Given the description of an element on the screen output the (x, y) to click on. 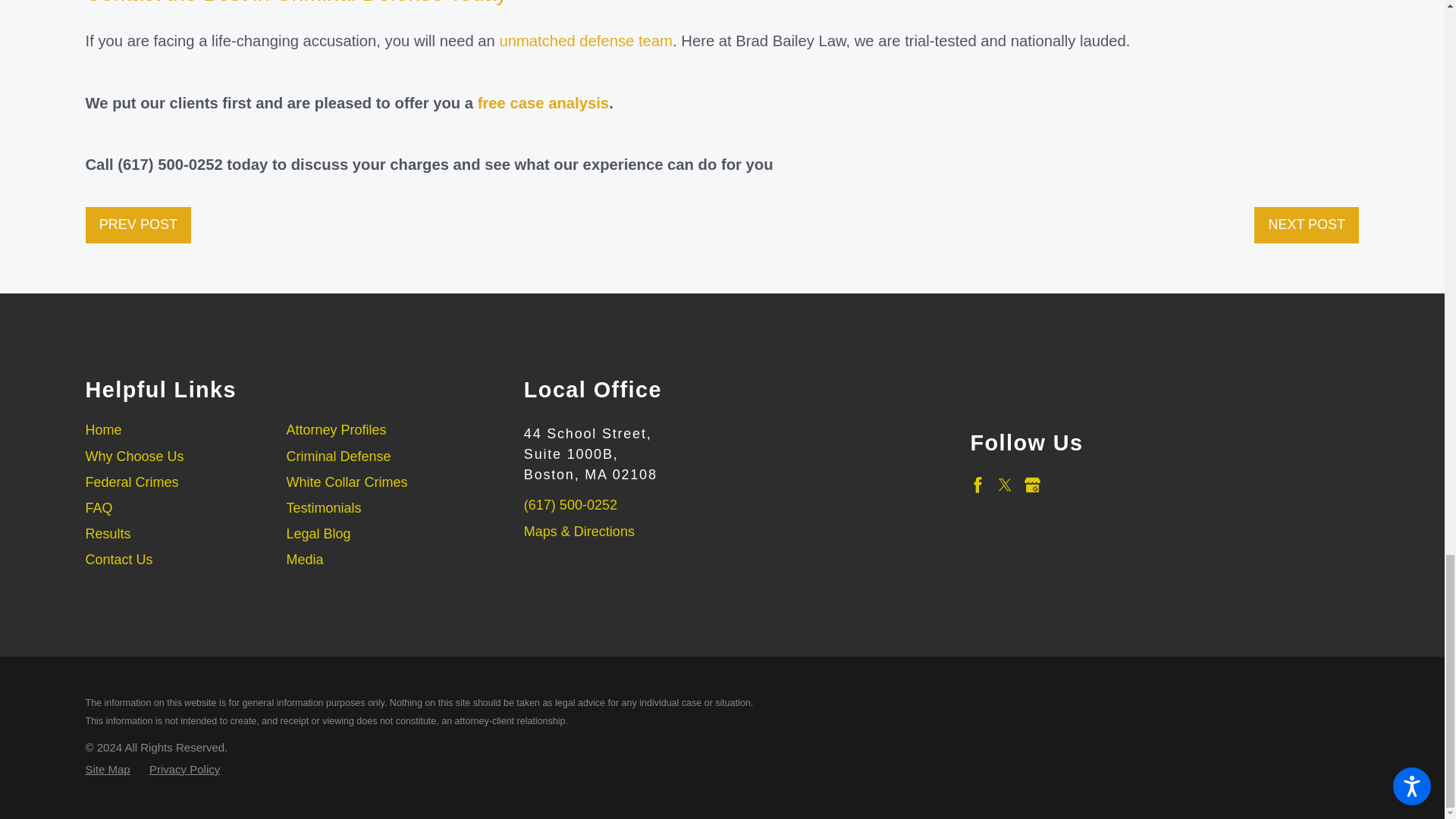
Twitter (1005, 484)
Google Business Profile (1033, 484)
Facebook (977, 484)
